Given the description of an element on the screen output the (x, y) to click on. 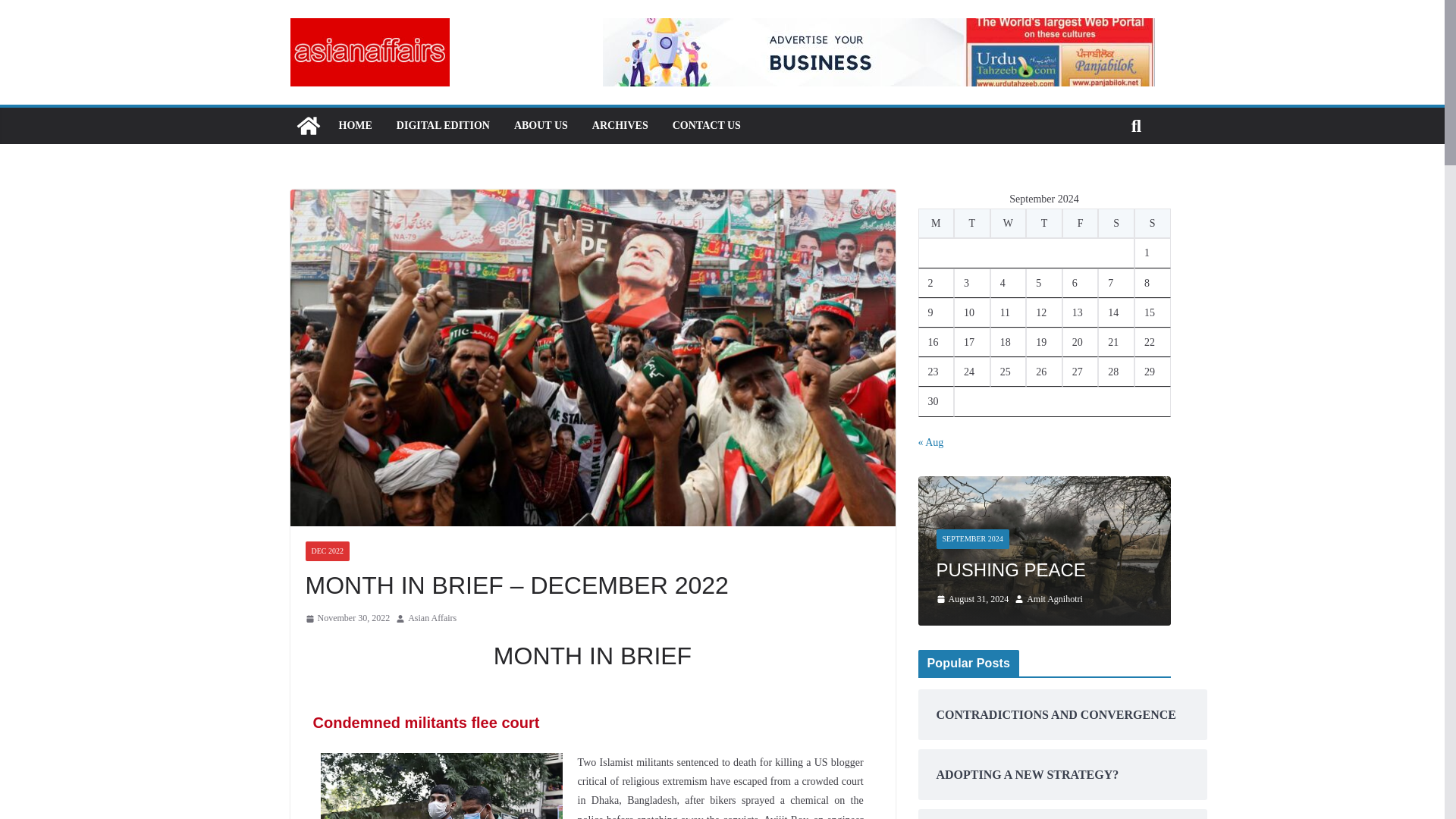
SEPTEMBER 2024 (972, 538)
DEC 2022 (326, 551)
Asian Affairs (432, 618)
November 30, 2022 (347, 618)
Amit Agnihotri (1054, 599)
August 31, 2024 (972, 599)
Friday (1080, 223)
Asian Affairs (432, 618)
Sunday (1152, 223)
DIGITAL EDITION (442, 125)
